Given the description of an element on the screen output the (x, y) to click on. 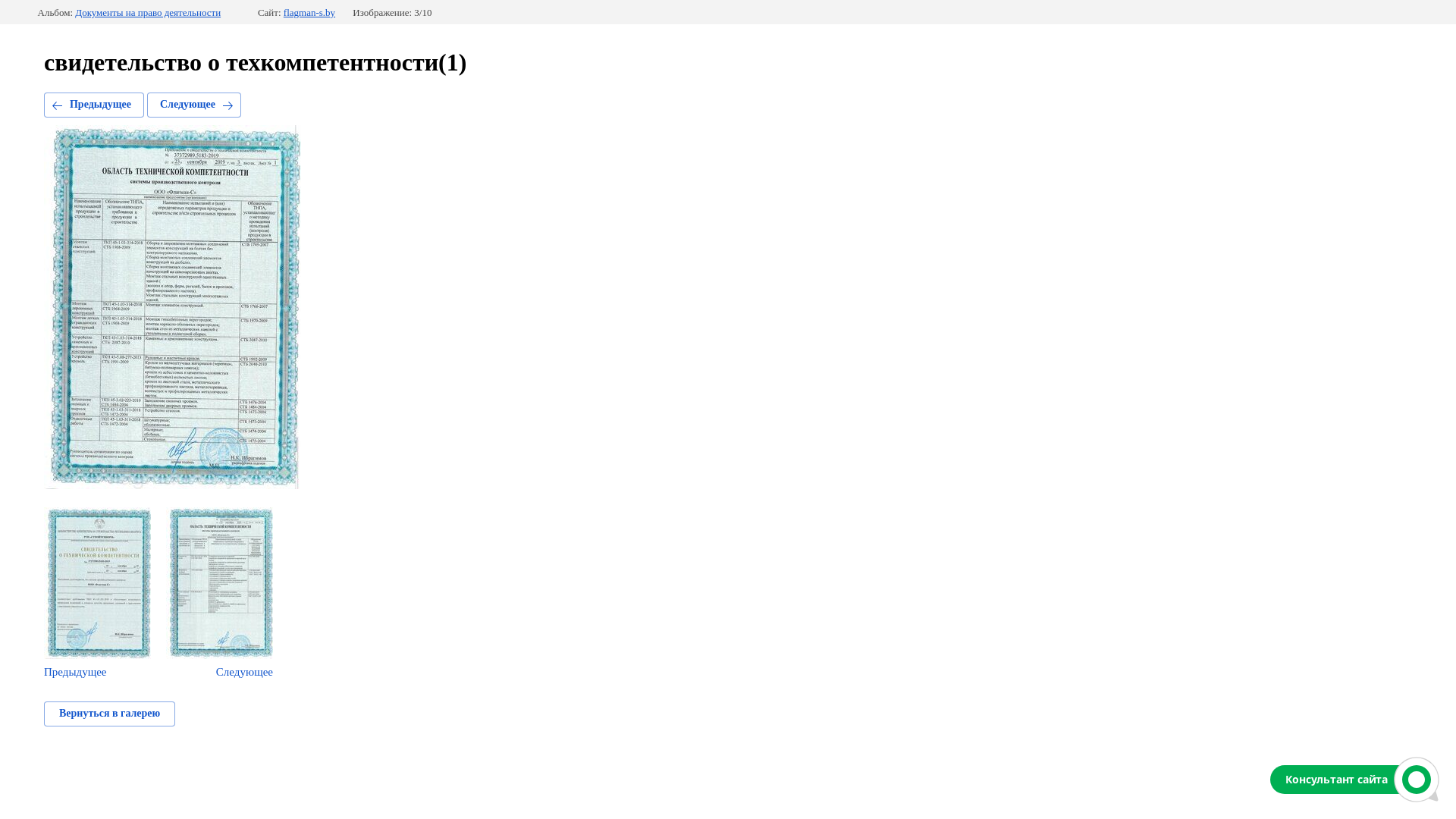
flagman-s.by Element type: text (309, 12)
